Given the description of an element on the screen output the (x, y) to click on. 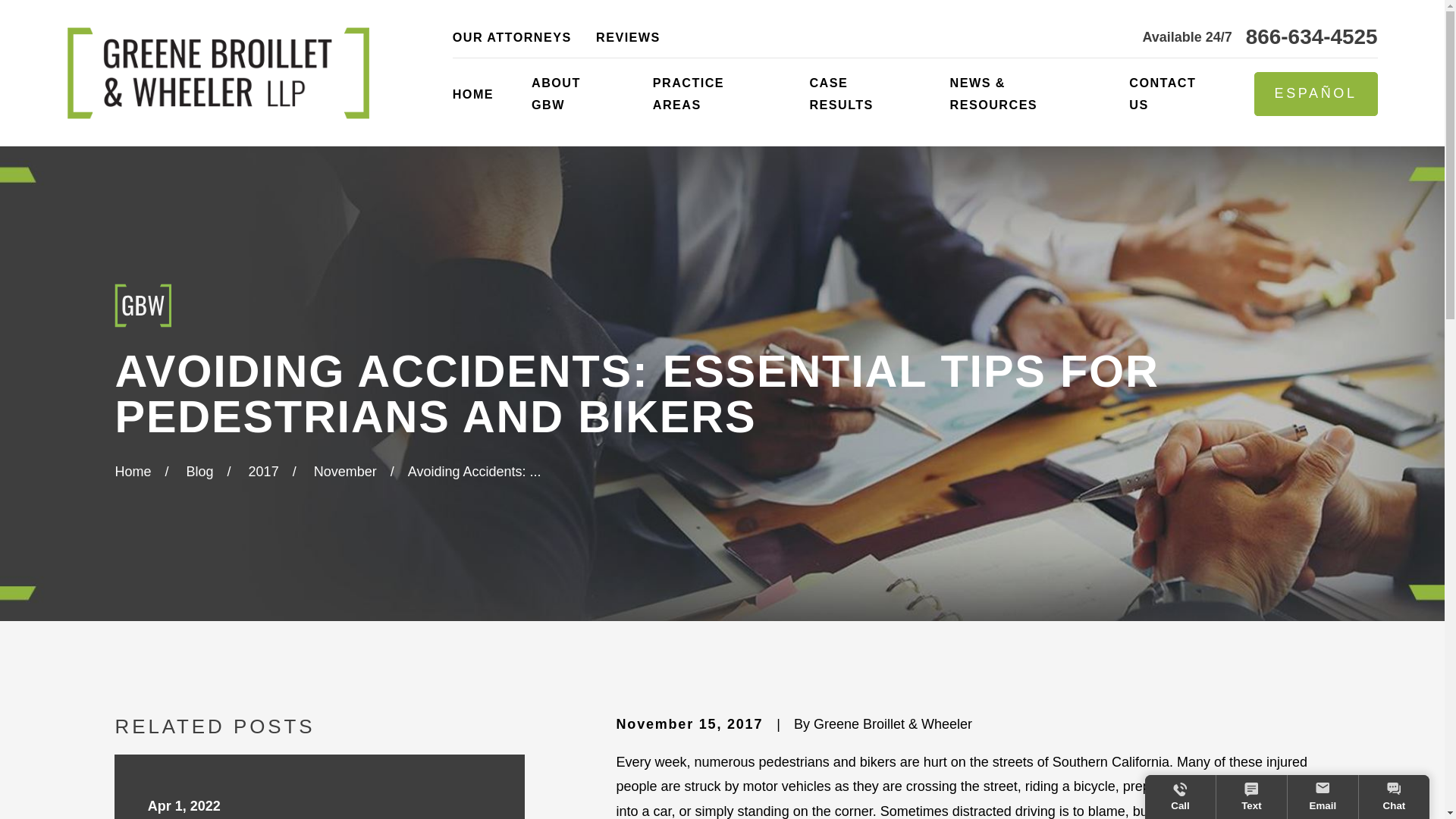
Home (217, 72)
REVIEWS (628, 37)
HOME (472, 94)
PRACTICE AREAS (711, 94)
ABOUT GBW (572, 94)
OUR ATTORNEYS (512, 37)
CASE RESULTS (860, 94)
Go Home (133, 471)
866-634-4525 (1311, 36)
